Given the description of an element on the screen output the (x, y) to click on. 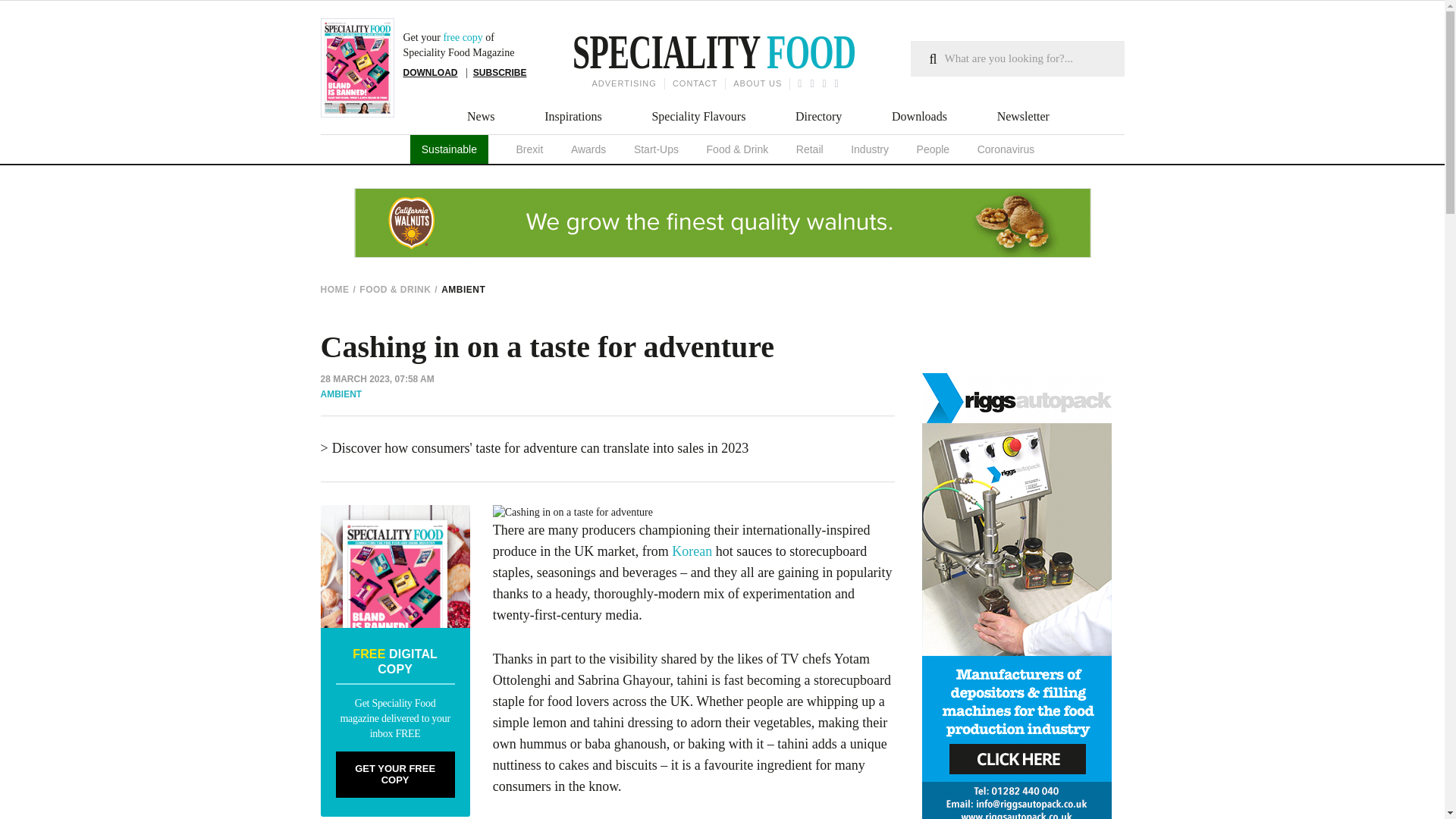
Awards (587, 149)
Inspirations (573, 116)
Retail (810, 149)
ABOUT US (757, 83)
Korean (691, 550)
Speciality Flavours (697, 116)
Directory (817, 116)
Start Ups (655, 149)
CONTACT (694, 83)
Brexit (529, 149)
Retail (810, 149)
GET YOUR FREE COPY (394, 774)
SUBSCRIBE (500, 72)
Newsletter (1023, 116)
SPECIALITYFOOD (663, 56)
